Given the description of an element on the screen output the (x, y) to click on. 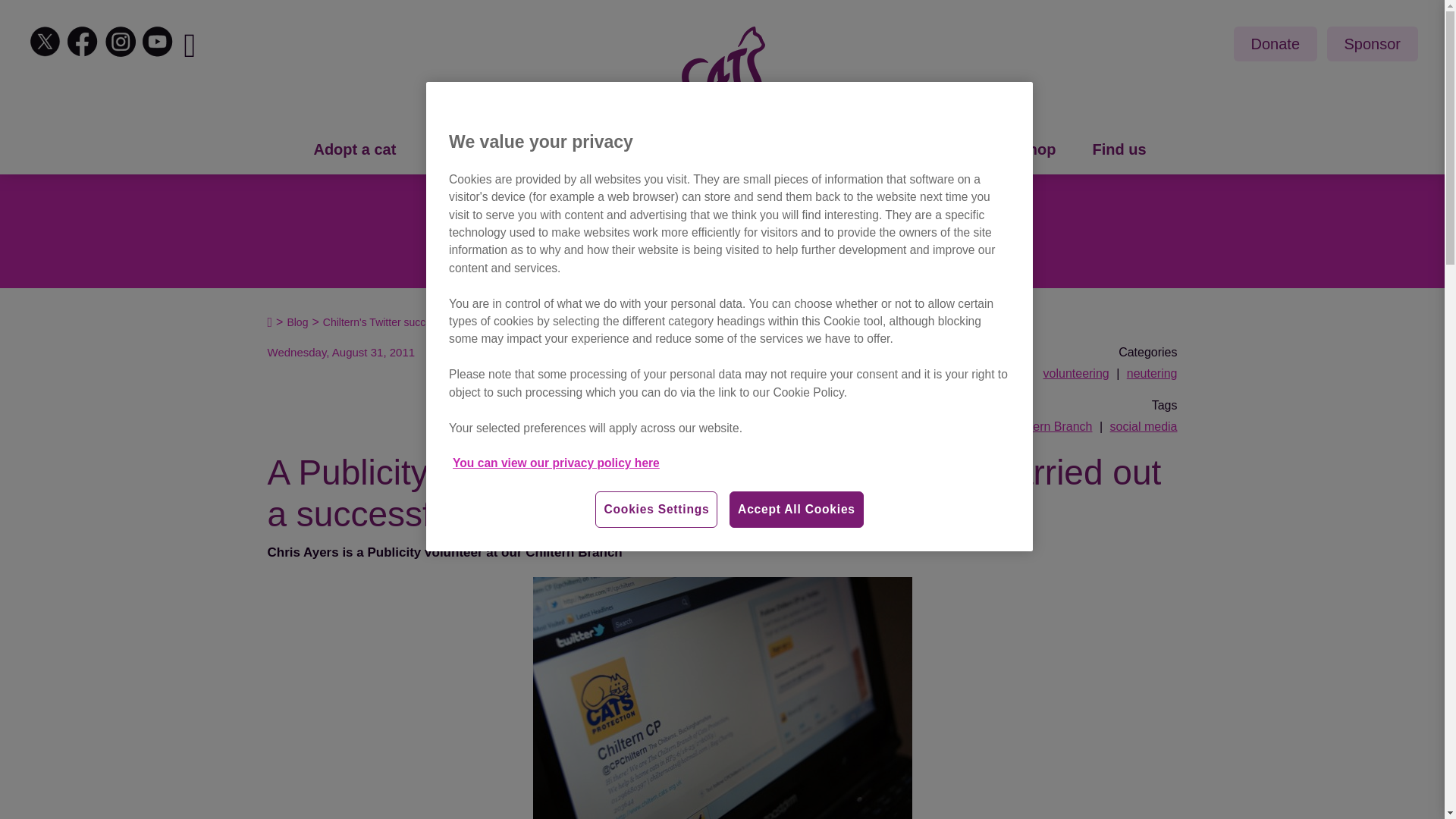
Tag: Chiltern Branch (1050, 426)
Adopt a cat (354, 149)
Category: volunteering (1076, 373)
About Cats Protection (511, 149)
Donate (1275, 43)
Category: neutering (1151, 373)
Tag: social media (1143, 426)
Help and advice (807, 149)
What we do (670, 149)
Sponsor (1372, 43)
